Given the description of an element on the screen output the (x, y) to click on. 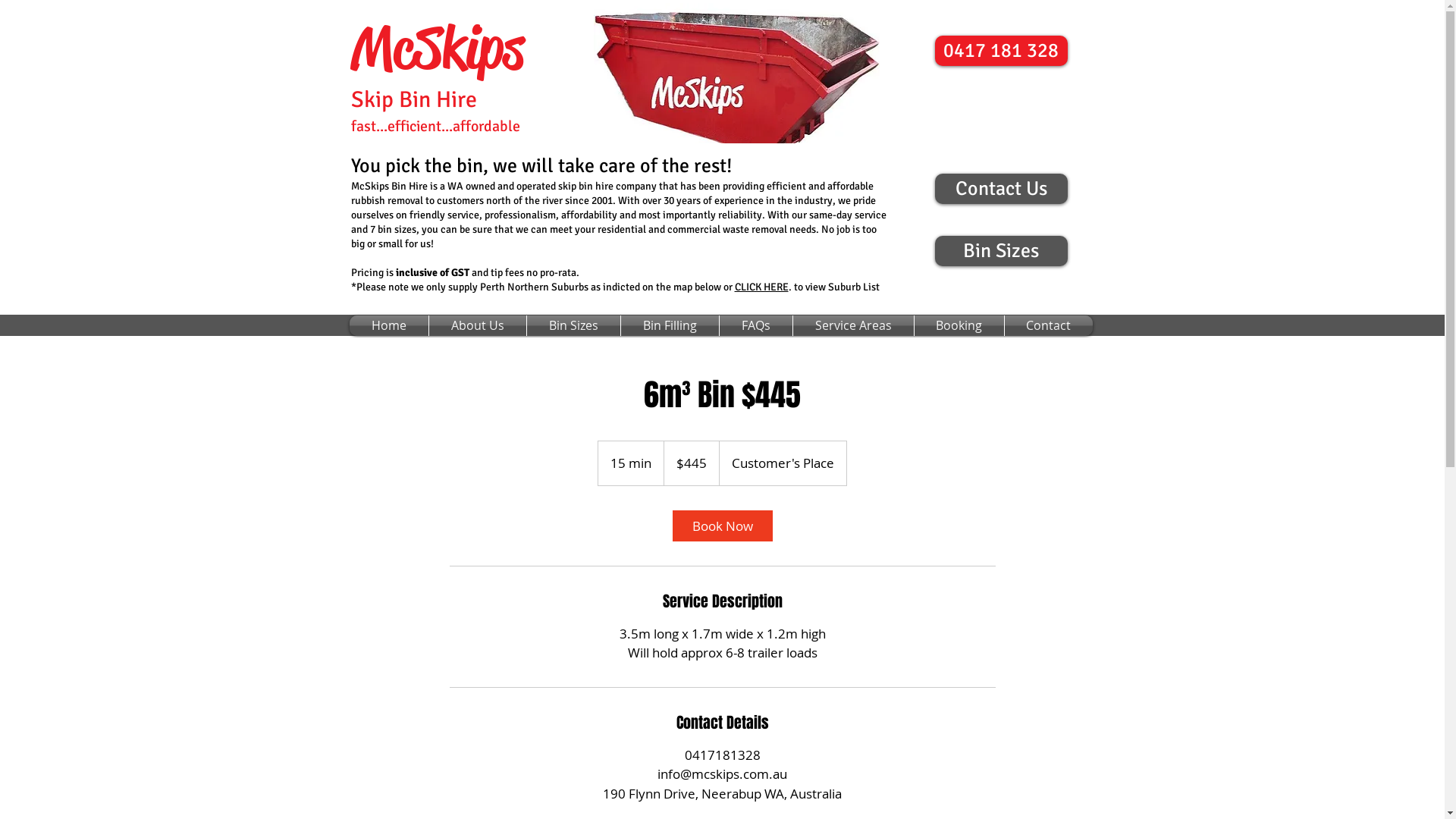
FAQs Element type: text (754, 325)
Bin Sizes Element type: text (572, 325)
Contact Element type: text (1048, 325)
CLICK HERE Element type: text (760, 286)
Home Element type: text (387, 325)
Booking Element type: text (959, 325)
Bin Filling Element type: text (669, 325)
Contact Us Element type: text (1000, 188)
About Us Element type: text (477, 325)
Bin Sizes Element type: text (1000, 250)
0417 181 328 Element type: text (1000, 50)
Book Now Element type: text (721, 524)
Service Areas Element type: text (853, 325)
